Given the description of an element on the screen output the (x, y) to click on. 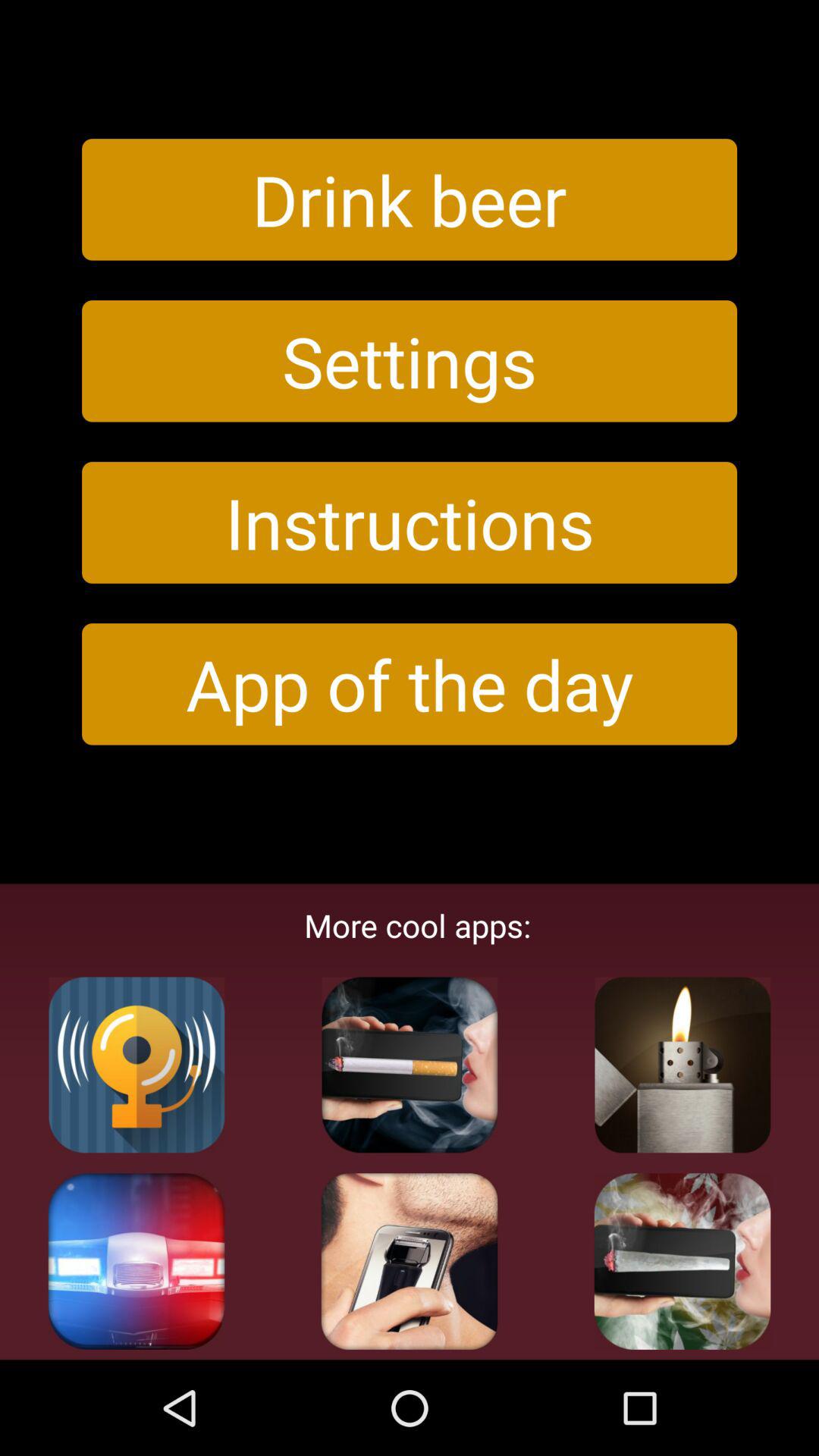
press the item above the app of the icon (409, 522)
